Given the description of an element on the screen output the (x, y) to click on. 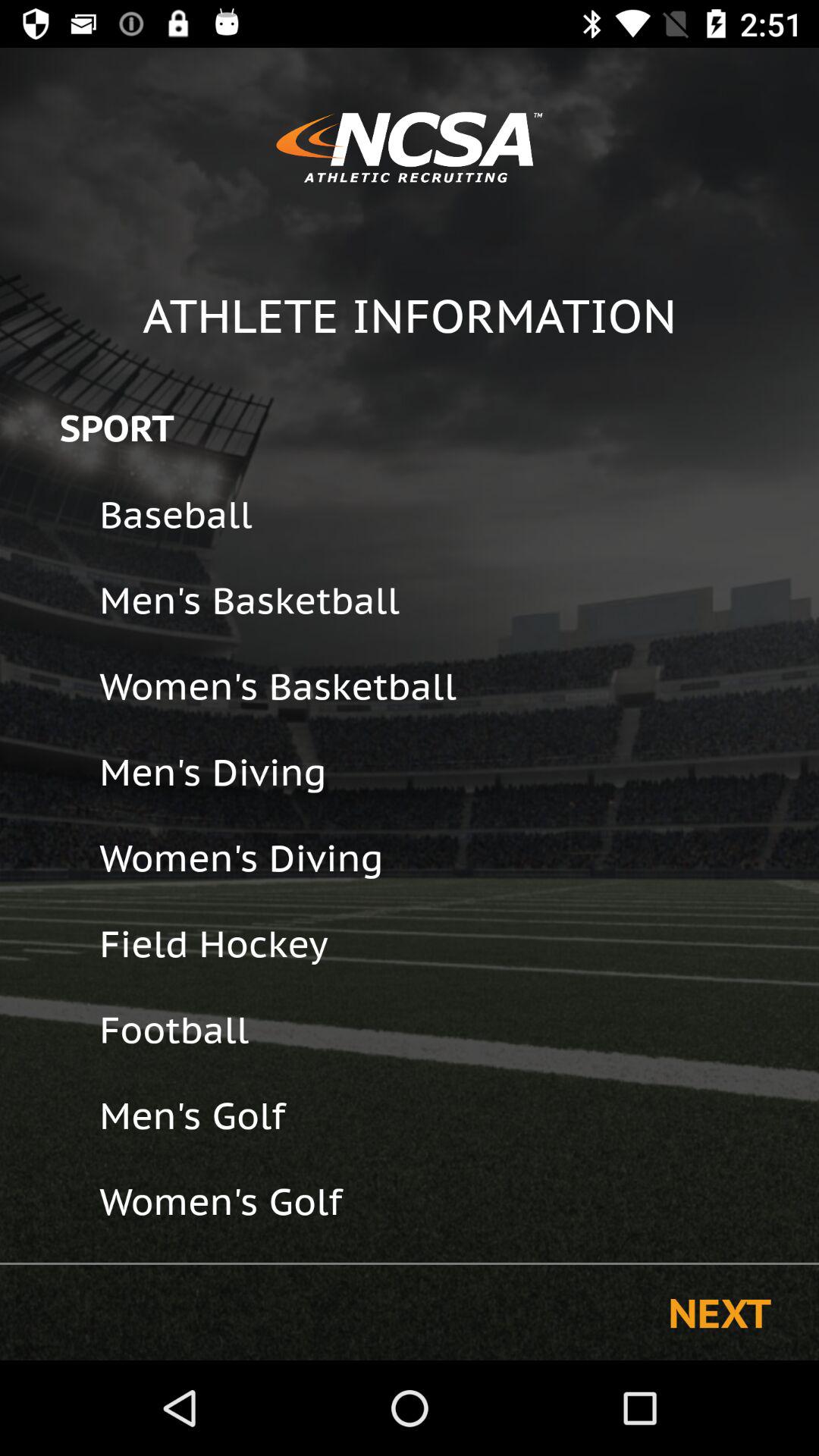
launch the item below women's diving icon (449, 943)
